Given the description of an element on the screen output the (x, y) to click on. 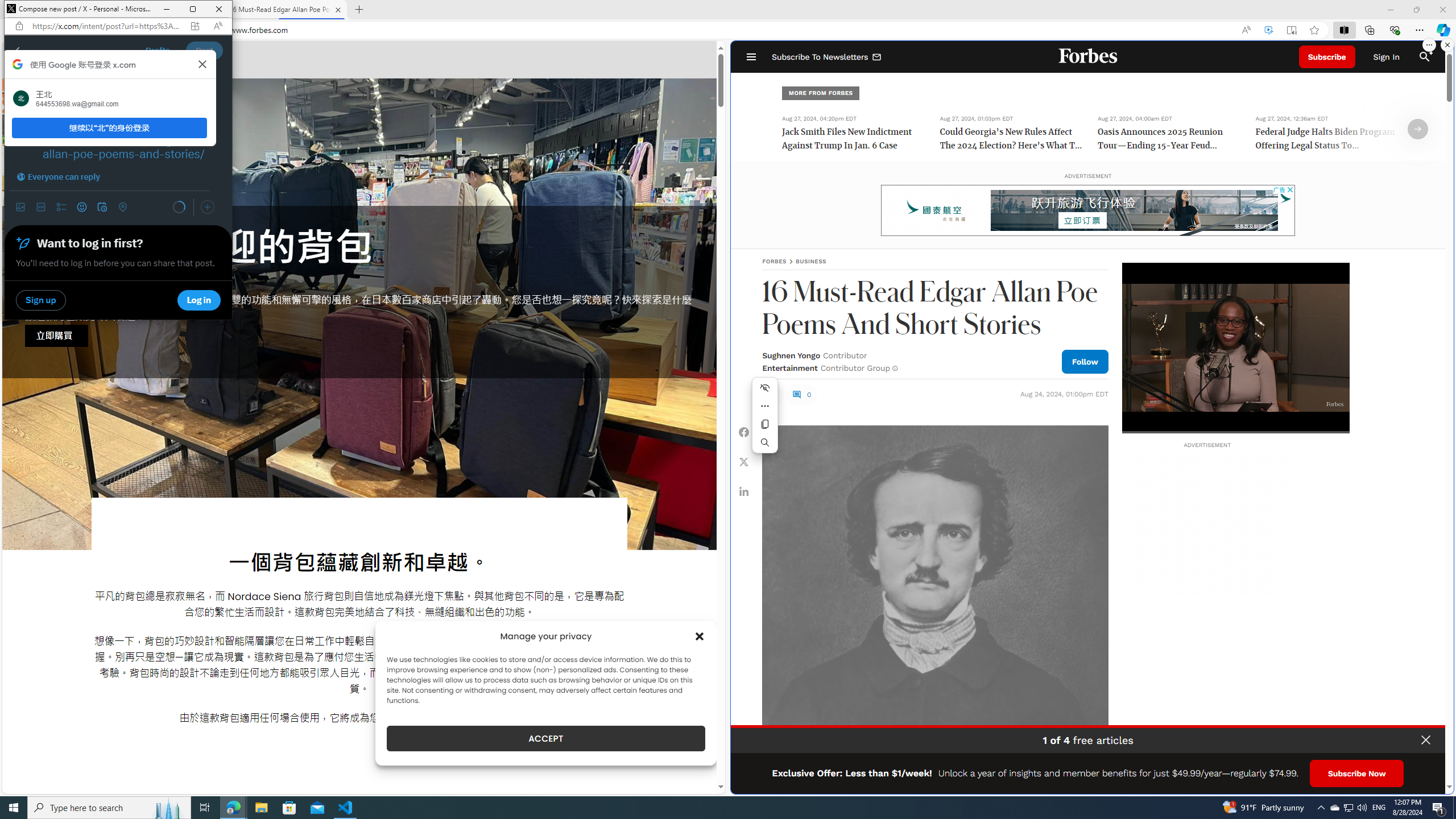
Forbes Logo (1088, 56)
Follow Author (1084, 360)
Microsoft Edge - 2 running windows (233, 807)
More actions (764, 406)
Class: fs-icon fs-icon--comment (796, 394)
Microsoft Store (289, 807)
Class: sparkles_svg__fs-icon sparkles_svg__fs-icon--sparkles (1430, 51)
Open Navigation Menu (750, 56)
BUSINESS (810, 261)
Share Facebook (743, 431)
Seek (1235, 431)
Start (13, 807)
